Given the description of an element on the screen output the (x, y) to click on. 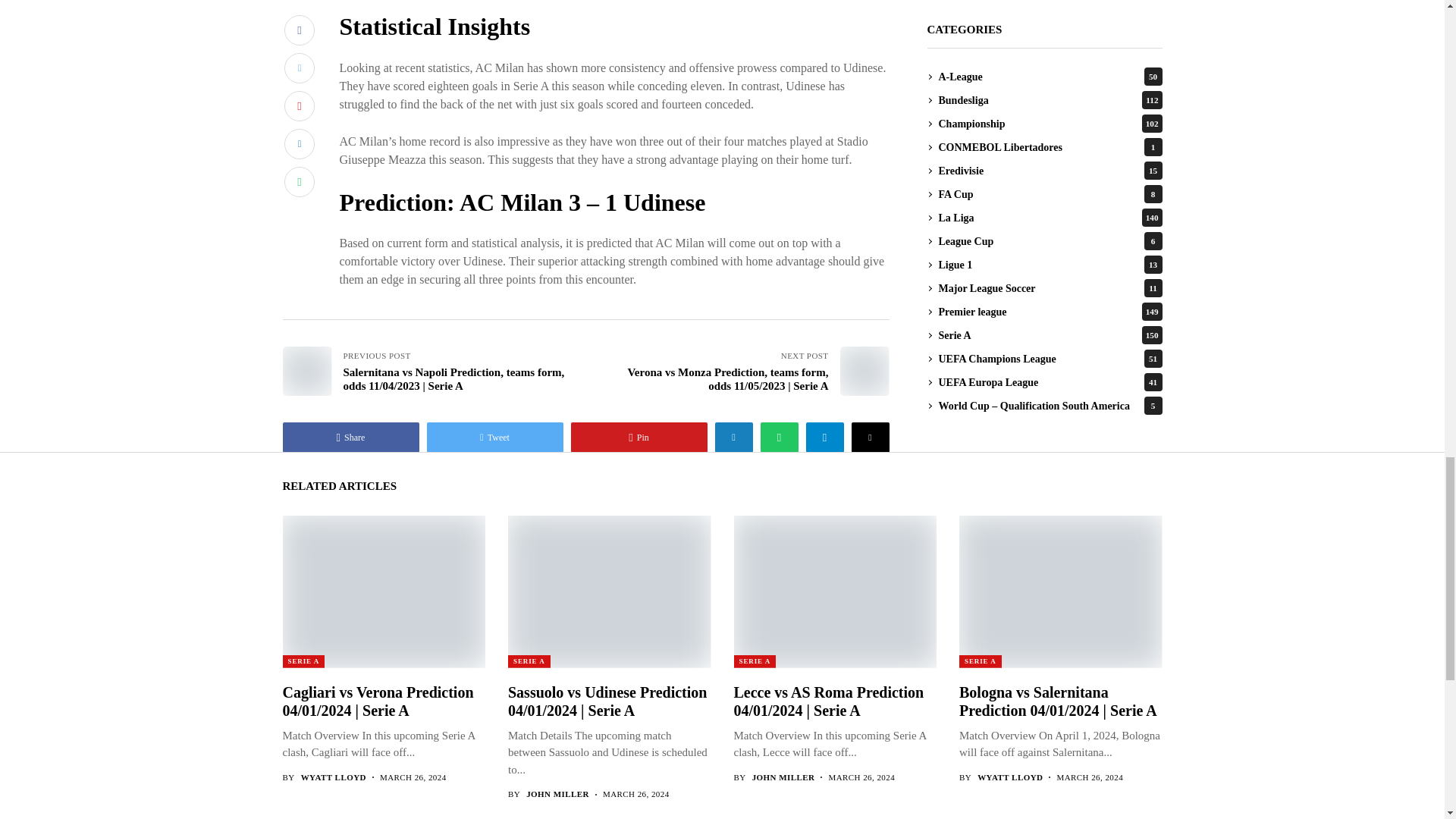
Posts by John Miller (557, 794)
Posts by John Miller (783, 777)
Posts by Wyatt Lloyd (1009, 777)
Posts by Wyatt Lloyd (333, 777)
